Given the description of an element on the screen output the (x, y) to click on. 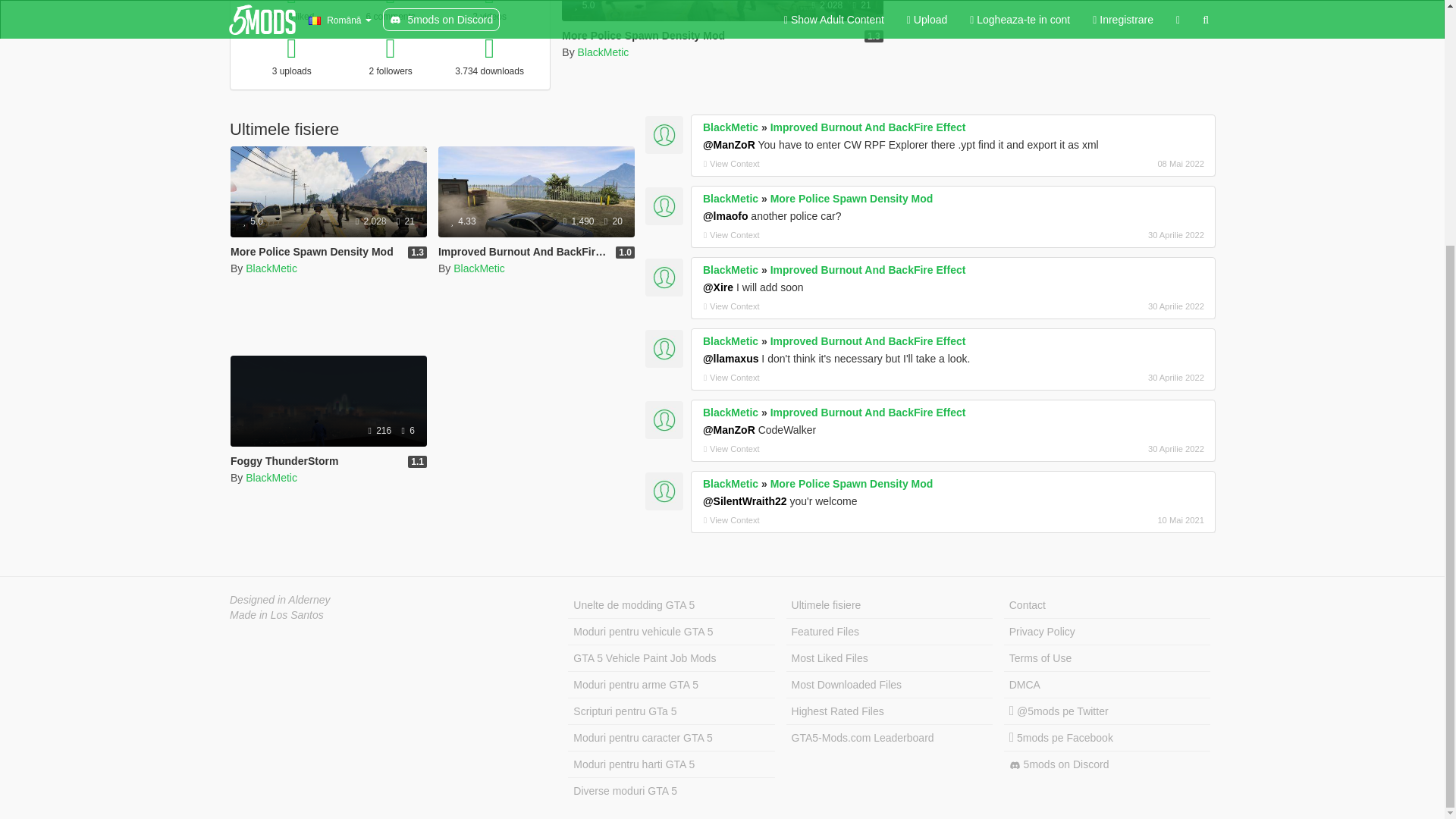
More Police Spawn Density Mod (643, 35)
More Police Spawn Density Mod (328, 191)
1.3 (416, 252)
5.0 star rating (583, 5)
2.028 descarcari (371, 221)
2.028 descarcari (827, 5)
21 aprecieri (861, 5)
5.0 star rating (253, 221)
More Police Spawn Density Mod (311, 251)
More Police Spawn Density Mod (722, 51)
